Given the description of an element on the screen output the (x, y) to click on. 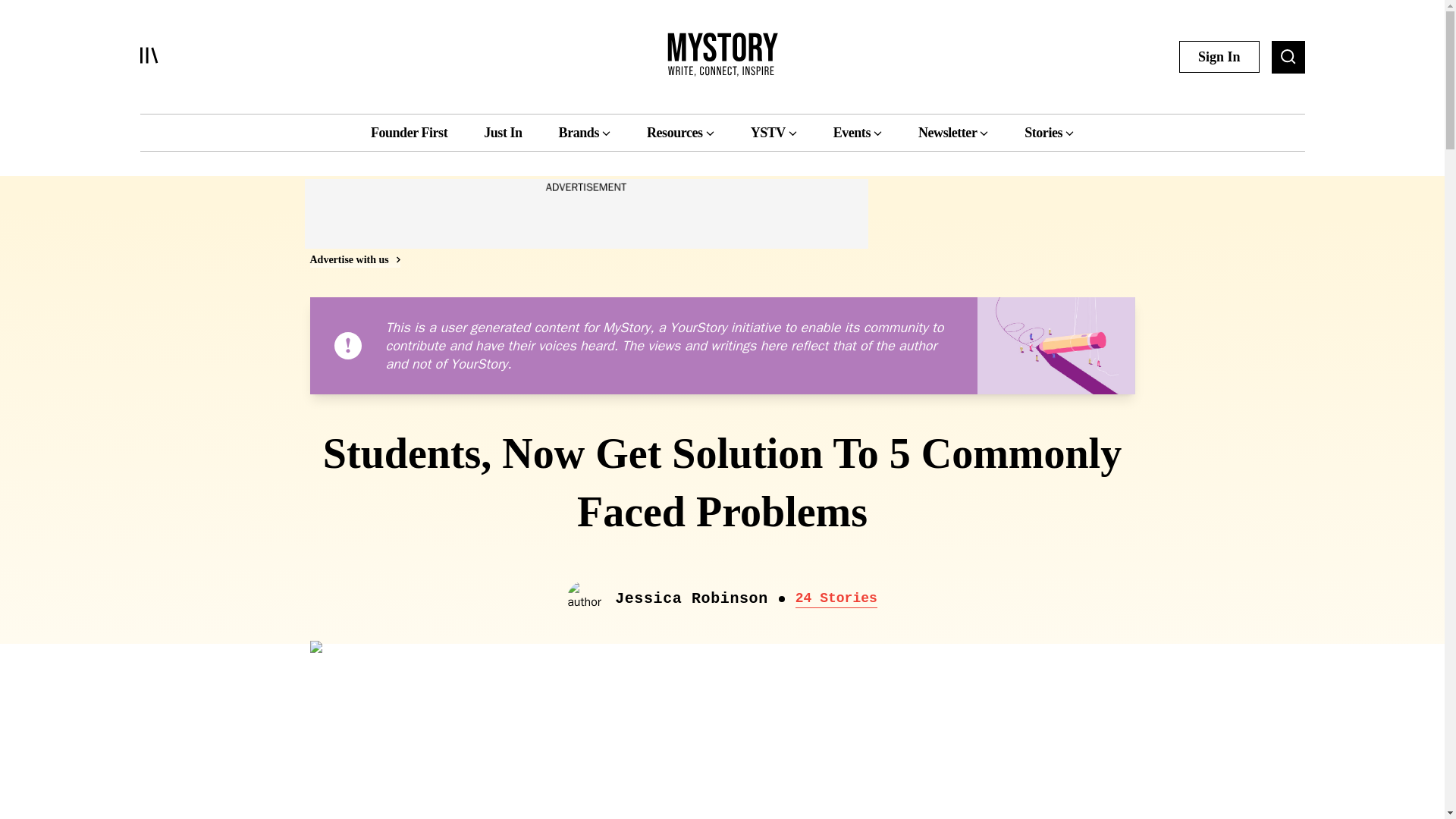
Jessica Robinson (691, 598)
Advertise with us (353, 259)
Founder First (408, 132)
24 Stories (835, 598)
Just In (502, 132)
